Given the description of an element on the screen output the (x, y) to click on. 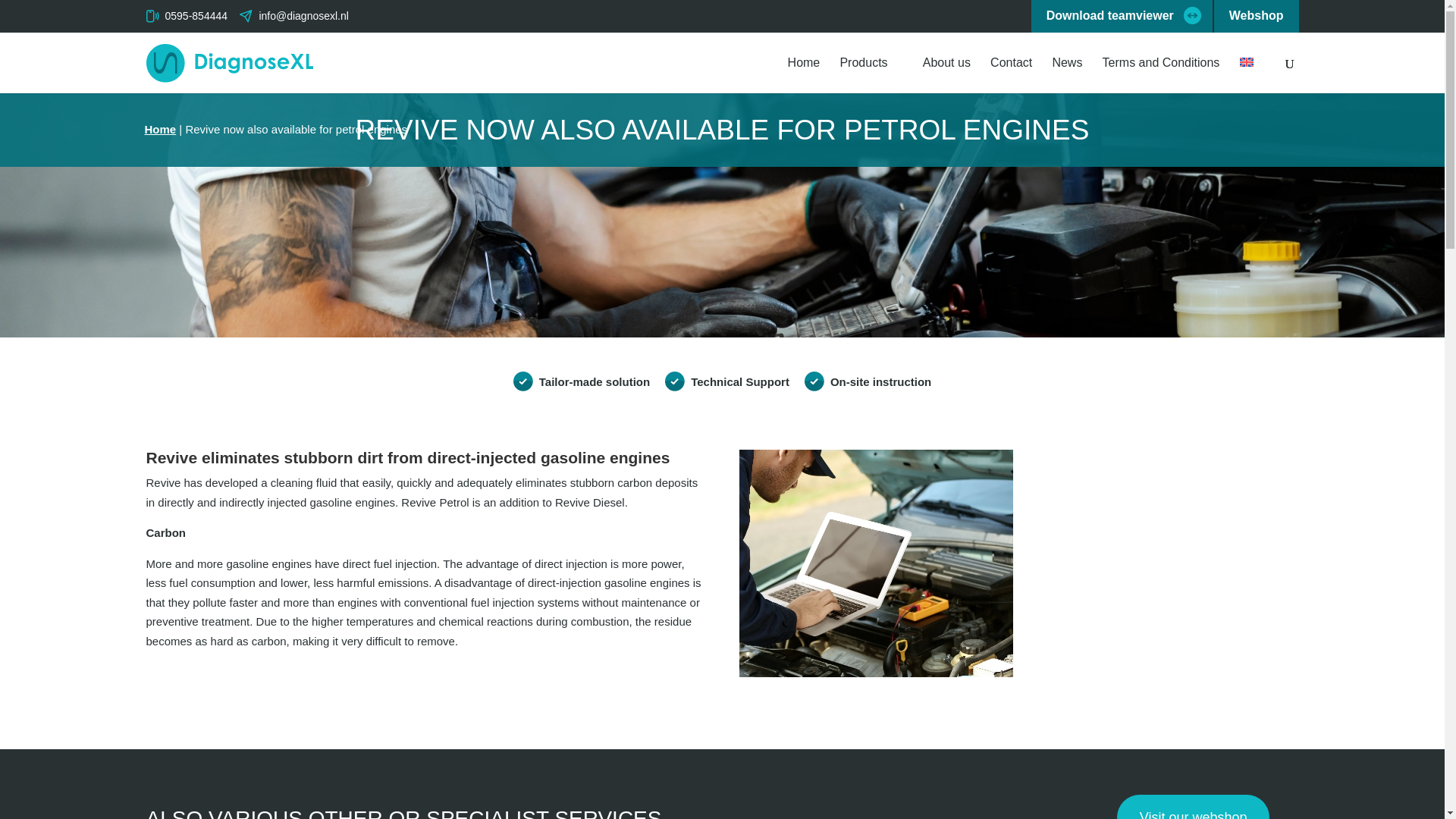
Home (804, 75)
Webshop (1256, 16)
ZettBasis (876, 563)
0595-854444 (186, 15)
Download teamviewer (1121, 16)
Products (871, 75)
